Given the description of an element on the screen output the (x, y) to click on. 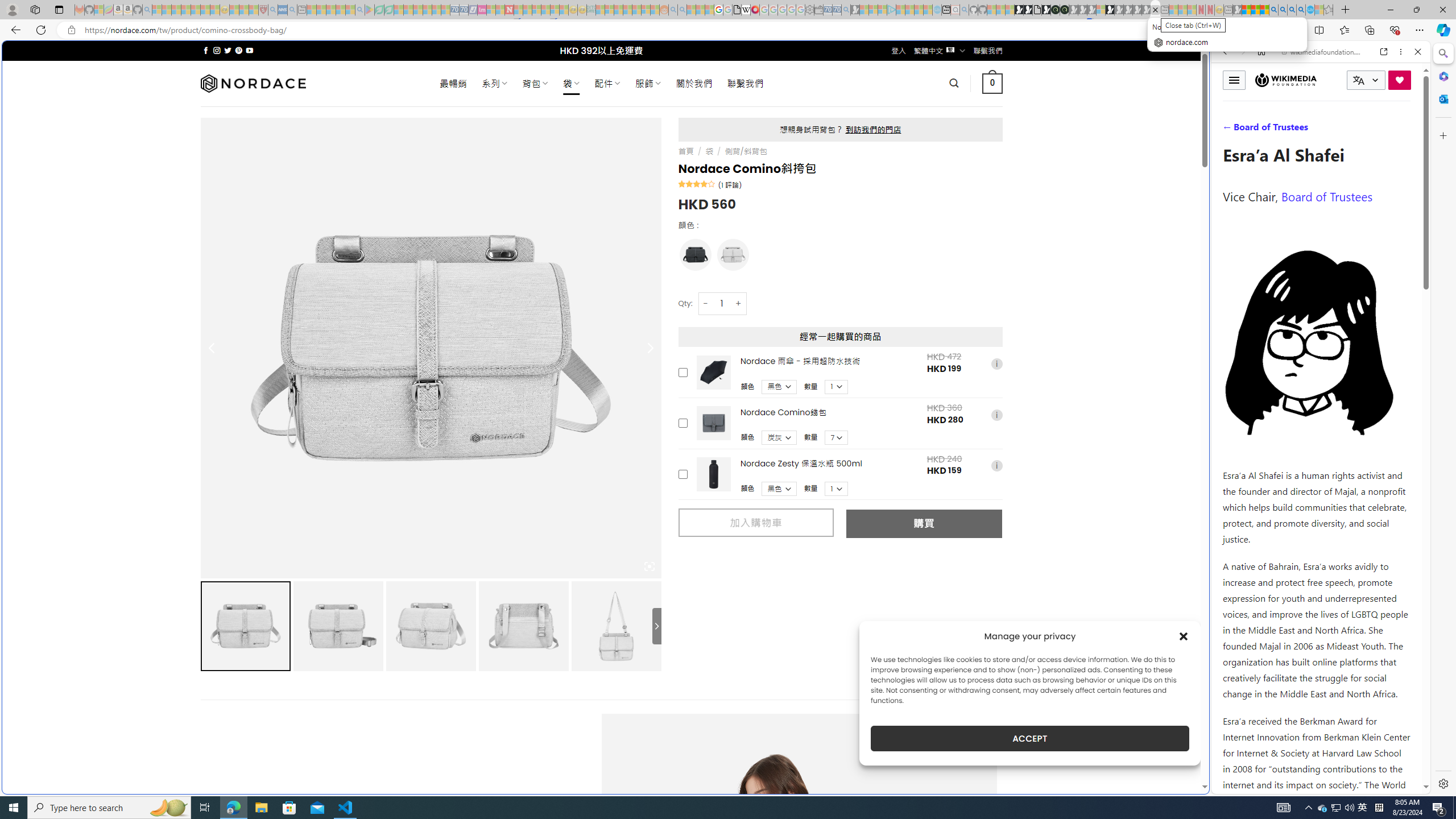
Play Cave FRVR in your browser | Games from Microsoft Start (922, 242)
Services - Maintenance | Sky Blue Bikes - Sky Blue Bikes (1309, 9)
Cheap Car Rentals - Save70.com - Sleeping (836, 9)
New tab (945, 9)
Kinda Frugal - MSN - Sleeping (636, 9)
Global web icon (1232, 786)
Class: upsell-v2-product-upsell-variable-product-qty-select (836, 488)
